Given the description of an element on the screen output the (x, y) to click on. 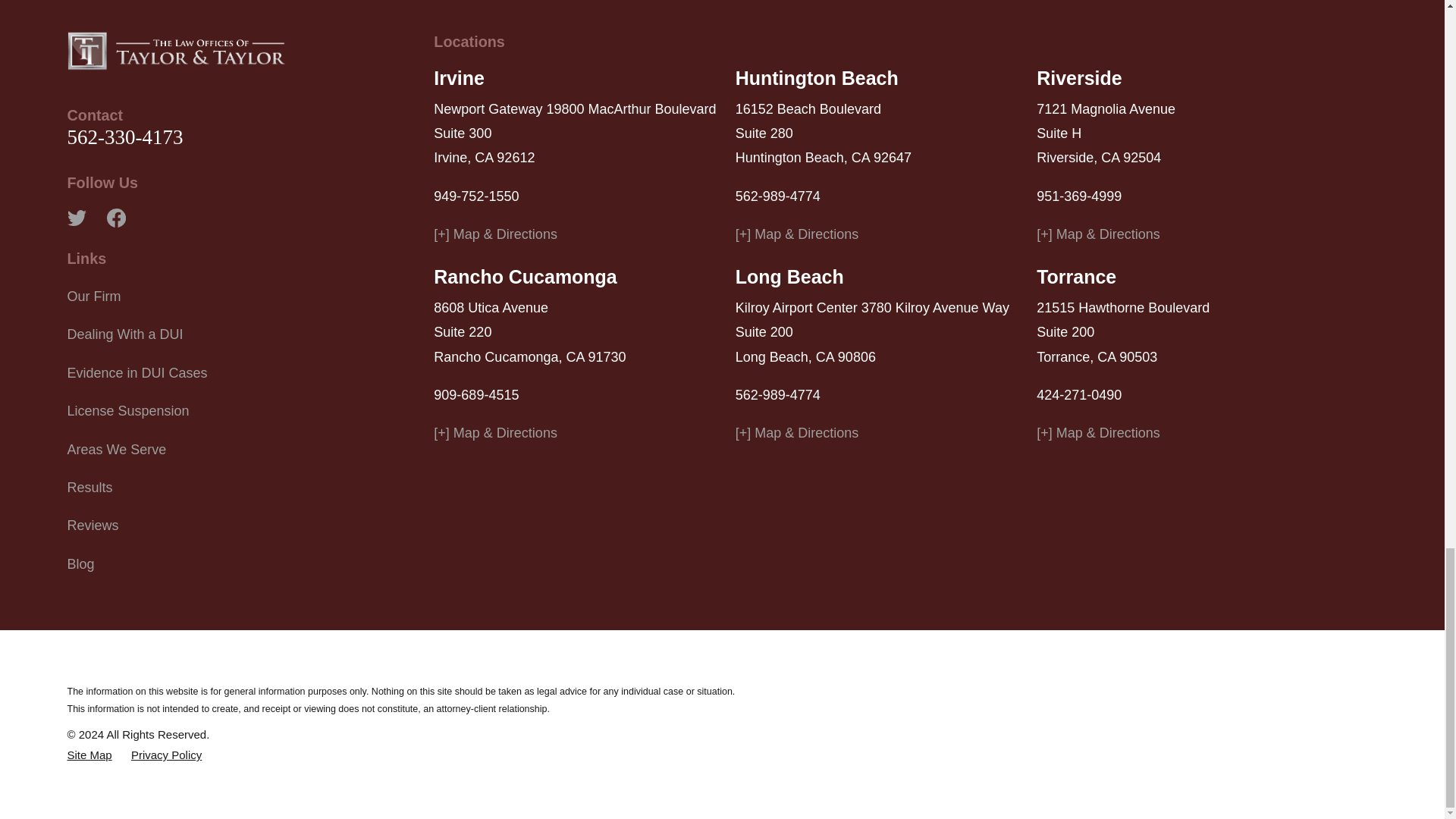
Twitter (75, 217)
Facebook (115, 217)
Home (175, 50)
